Given the description of an element on the screen output the (x, y) to click on. 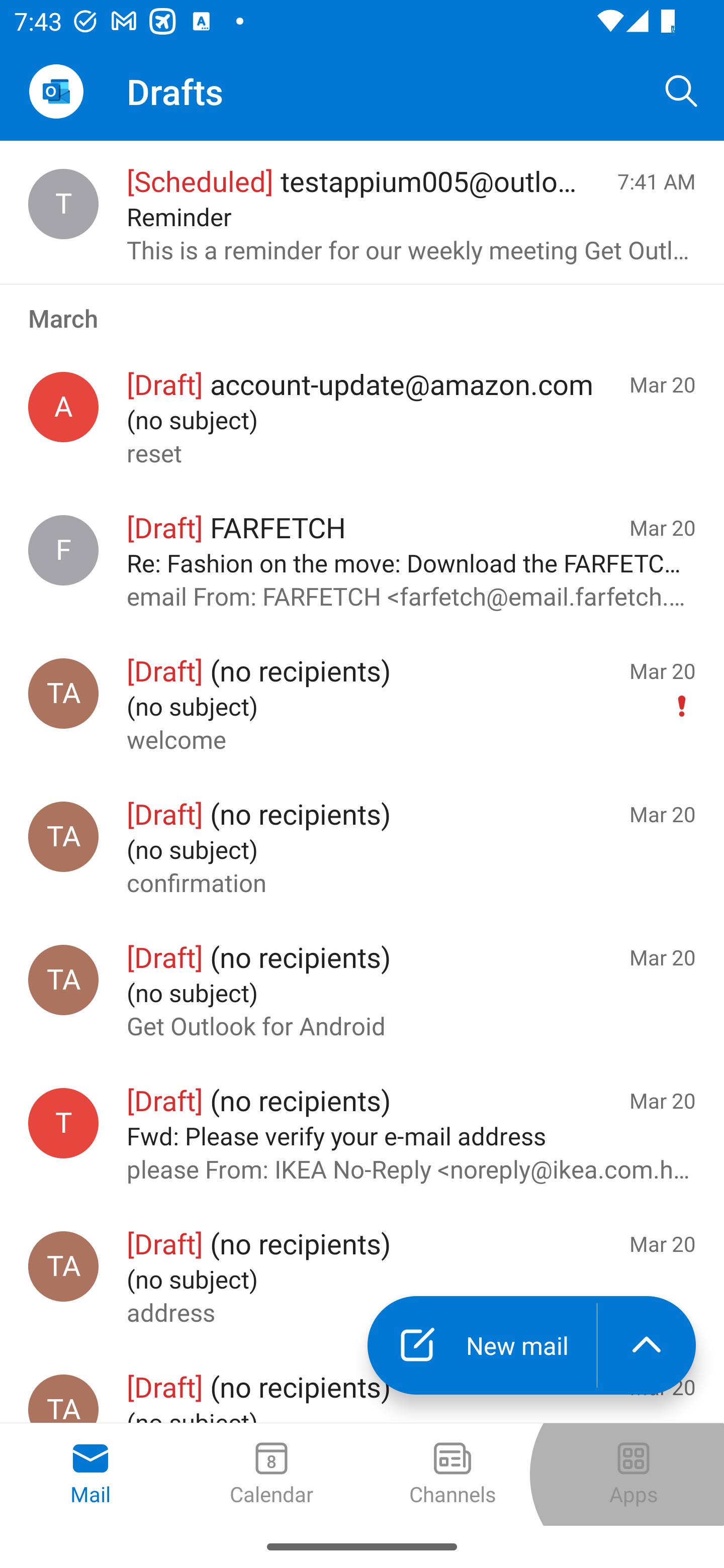
Search, ,  (681, 90)
Open Navigation Drawer (55, 91)
account-update@amazon.com (63, 406)
FARFETCH, testappium002@outlook.com (63, 549)
Test Appium, testappium002@outlook.com (63, 693)
Test Appium, testappium002@outlook.com (63, 836)
Test Appium, testappium002@outlook.com (63, 979)
testappium002@outlook.com (63, 1123)
Test Appium, testappium002@outlook.com (63, 1265)
New mail (481, 1344)
launch the extended action menu (646, 1344)
Calendar (271, 1474)
Channels (452, 1474)
Apps (633, 1474)
